Given the description of an element on the screen output the (x, y) to click on. 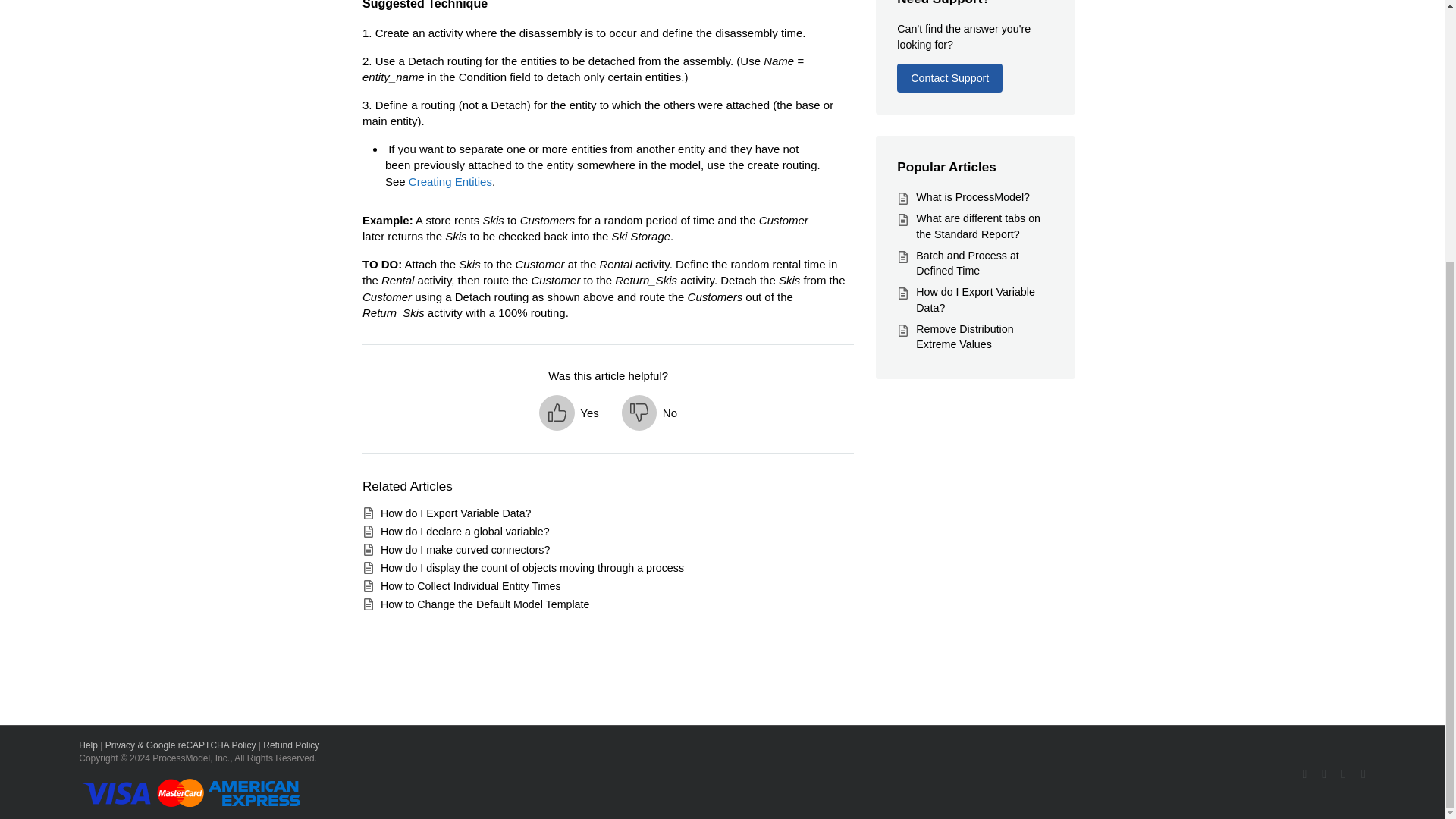
How do I Export Variable Data? (455, 512)
Refund Policy (290, 745)
No (649, 412)
Help (87, 745)
How do I make curved connectors? (465, 549)
How to Change the Default Model Template (484, 604)
Contact Support (949, 77)
How do I Export Variable Data? (975, 299)
Yes (568, 412)
